Given the description of an element on the screen output the (x, y) to click on. 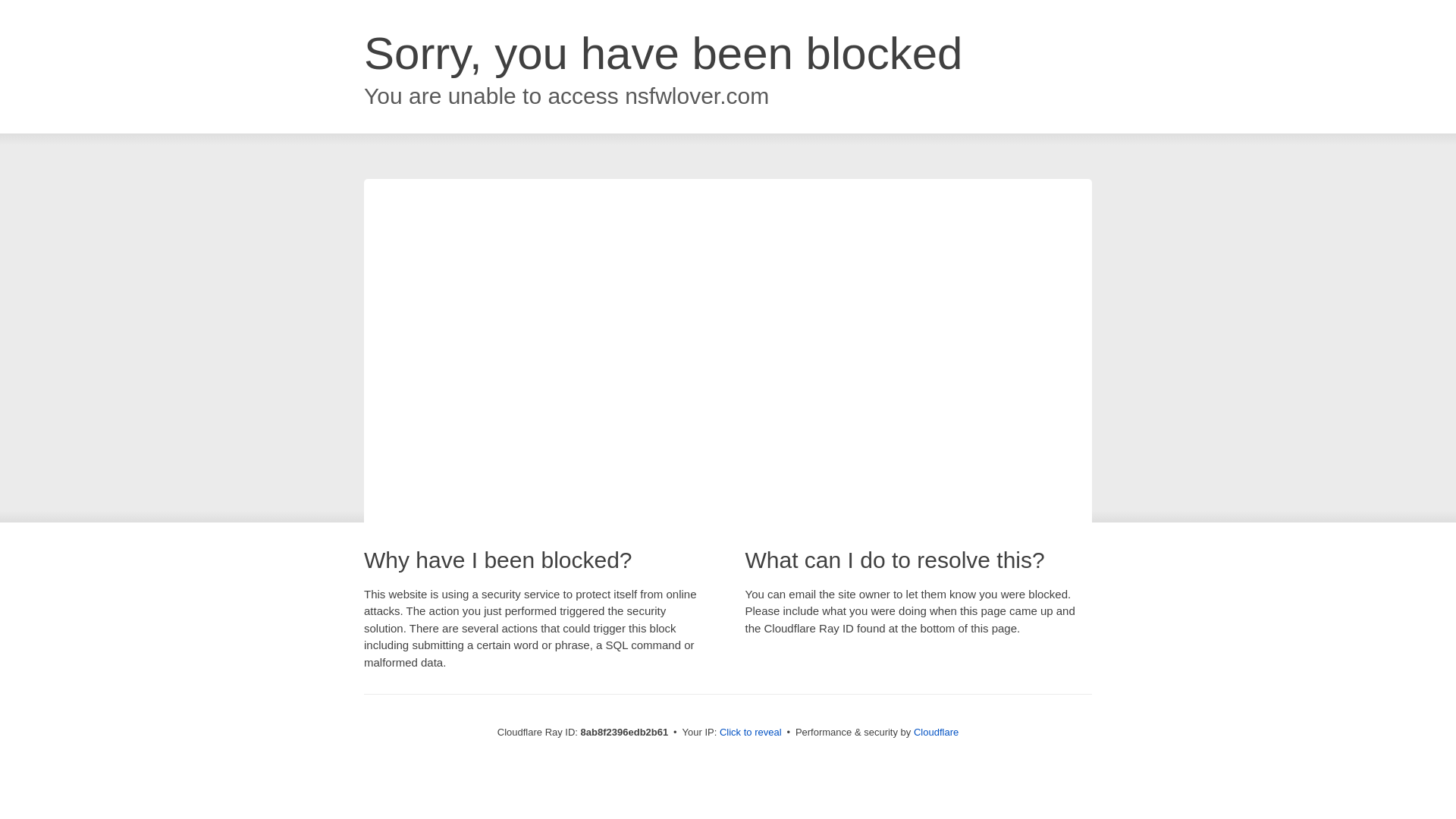
Click to reveal (750, 732)
Cloudflare (936, 731)
